Given the description of an element on the screen output the (x, y) to click on. 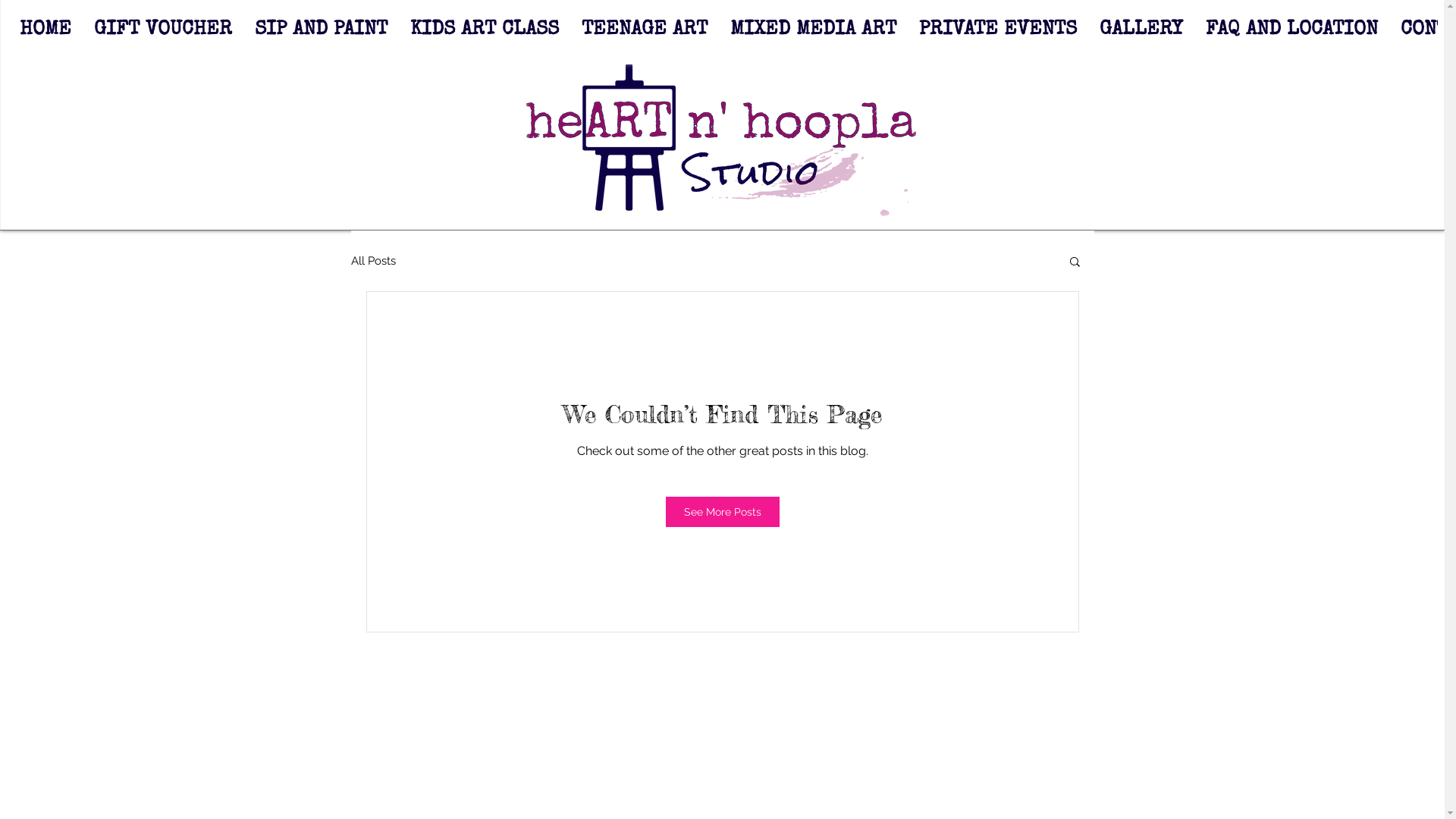
SIP AND PAINT Element type: text (320, 36)
HOME Element type: text (44, 36)
GALLERY Element type: text (1140, 36)
All Posts Element type: text (372, 260)
MIXED MEDIA ART Element type: text (812, 36)
GIFT VOUCHER Element type: text (161, 36)
PRIVATE EVENTS Element type: text (996, 36)
FAQ AND LOCATION Element type: text (1290, 36)
TEENAGE ART Element type: text (644, 36)
KIDS ART CLASS Element type: text (484, 36)
See More Posts Element type: text (722, 511)
